Given the description of an element on the screen output the (x, y) to click on. 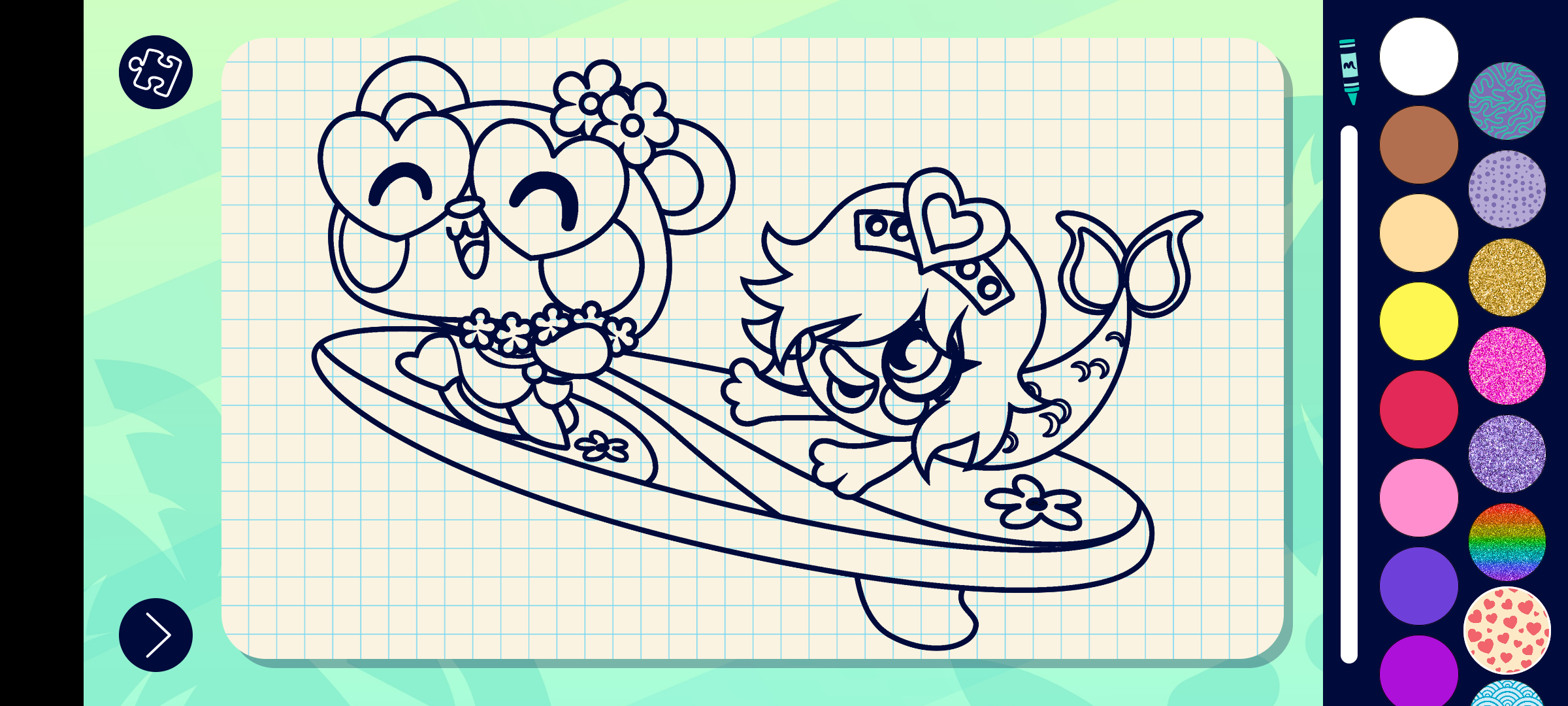
coloring background (1507, 101)
coloring background (1507, 189)
coloring background (1507, 277)
coloring background (1507, 365)
coloring background (1507, 454)
coloring background (1507, 542)
coloring background (1506, 630)
